Given the description of an element on the screen output the (x, y) to click on. 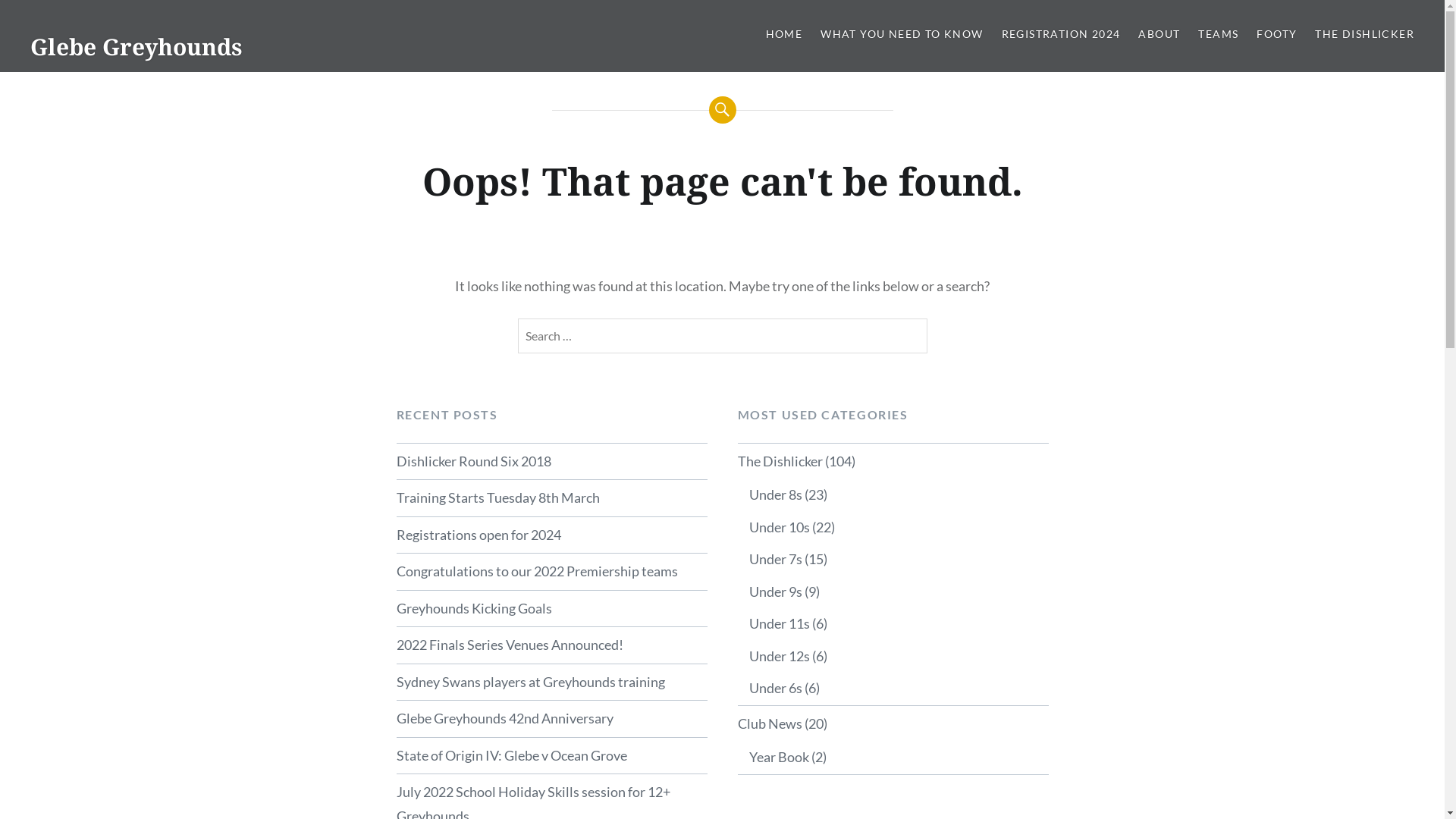
TEAMS Element type: text (1218, 34)
Under 9s Element type: text (775, 591)
Under 12s Element type: text (779, 655)
THE DISHLICKER Element type: text (1364, 34)
Training Starts Tuesday 8th March Element type: text (550, 498)
Club News Element type: text (769, 723)
Registrations open for 2024 Element type: text (550, 535)
Sydney Swans players at Greyhounds training Element type: text (550, 682)
Dishlicker Round Six 2018 Element type: text (550, 461)
Year Book Element type: text (779, 756)
Glebe Greyhounds 42nd Anniversary Element type: text (550, 718)
State of Origin IV: Glebe v Ocean Grove Element type: text (550, 755)
WHAT YOU NEED TO KNOW Element type: text (901, 34)
Congratulations to our 2022 Premiership teams Element type: text (550, 571)
ABOUT Element type: text (1158, 34)
Under 6s Element type: text (775, 687)
2022 Finals Series Venues Announced! Element type: text (550, 645)
Search Element type: text (34, 18)
Under 8s Element type: text (775, 494)
FOOTY Element type: text (1276, 34)
REGISTRATION 2024 Element type: text (1060, 34)
Under 7s Element type: text (775, 558)
Glebe Greyhounds Element type: text (136, 46)
Greyhounds Kicking Goals Element type: text (550, 608)
The Dishlicker Element type: text (779, 460)
HOME Element type: text (784, 34)
Under 11s Element type: text (779, 623)
Under 10s Element type: text (779, 526)
